Given the description of an element on the screen output the (x, y) to click on. 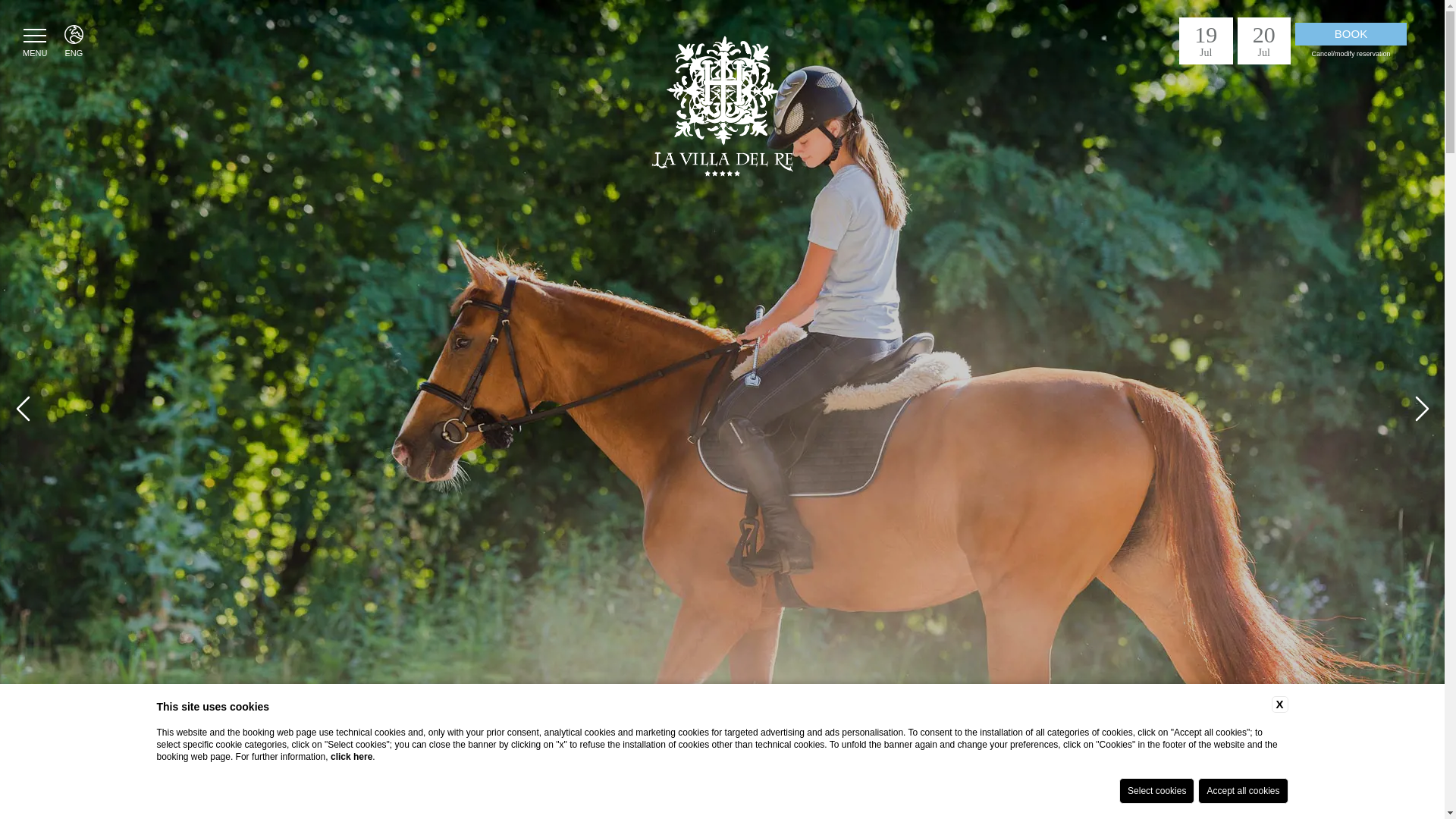
Select cookies (1156, 790)
Book (1350, 33)
Accept all cookies (1242, 790)
